Given the description of an element on the screen output the (x, y) to click on. 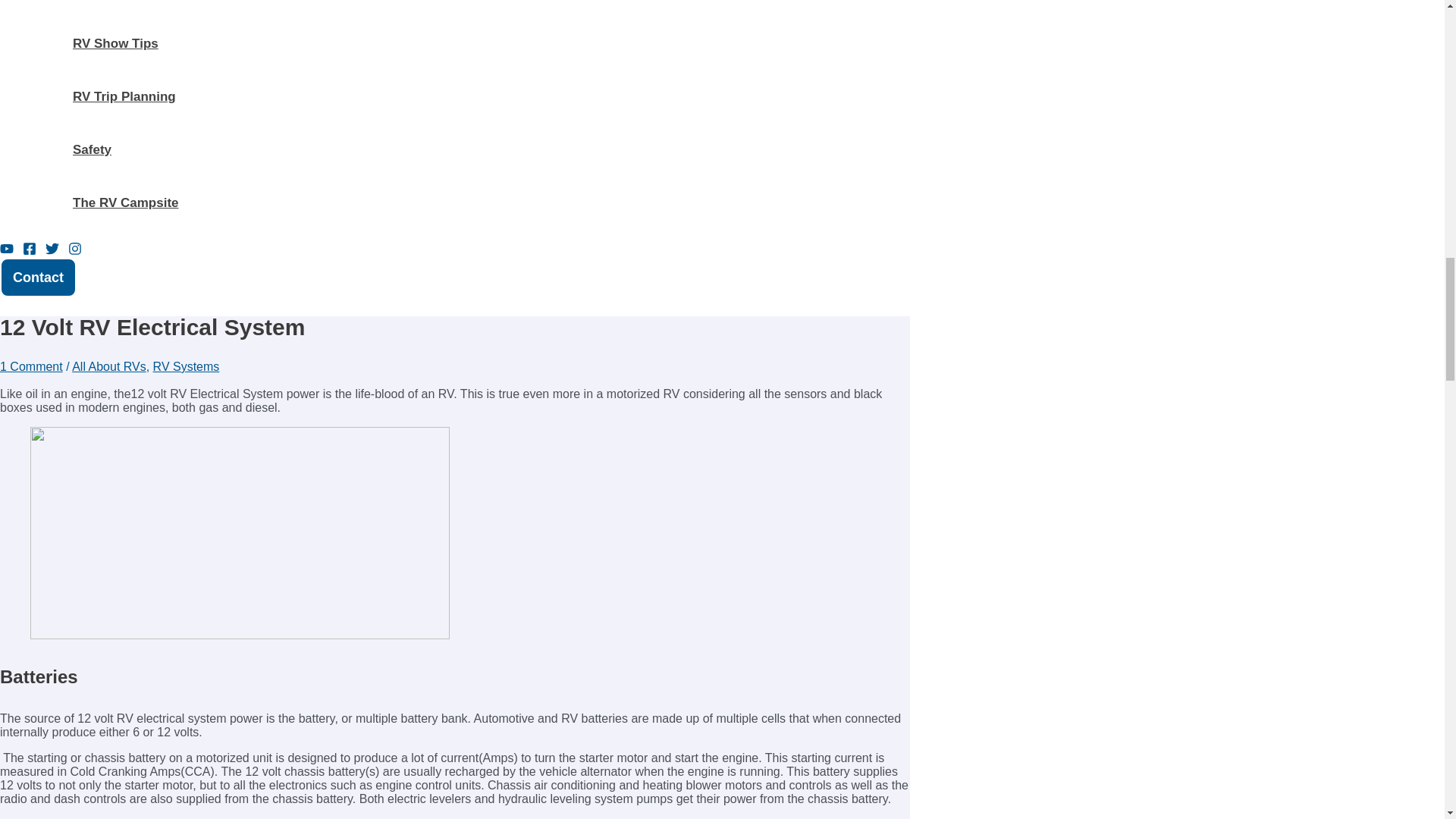
The RV Campsite (168, 203)
Safety (168, 149)
RV Show Tips (168, 43)
RV Inspection (168, 8)
RV Trip Planning (168, 96)
